Given the description of an element on the screen output the (x, y) to click on. 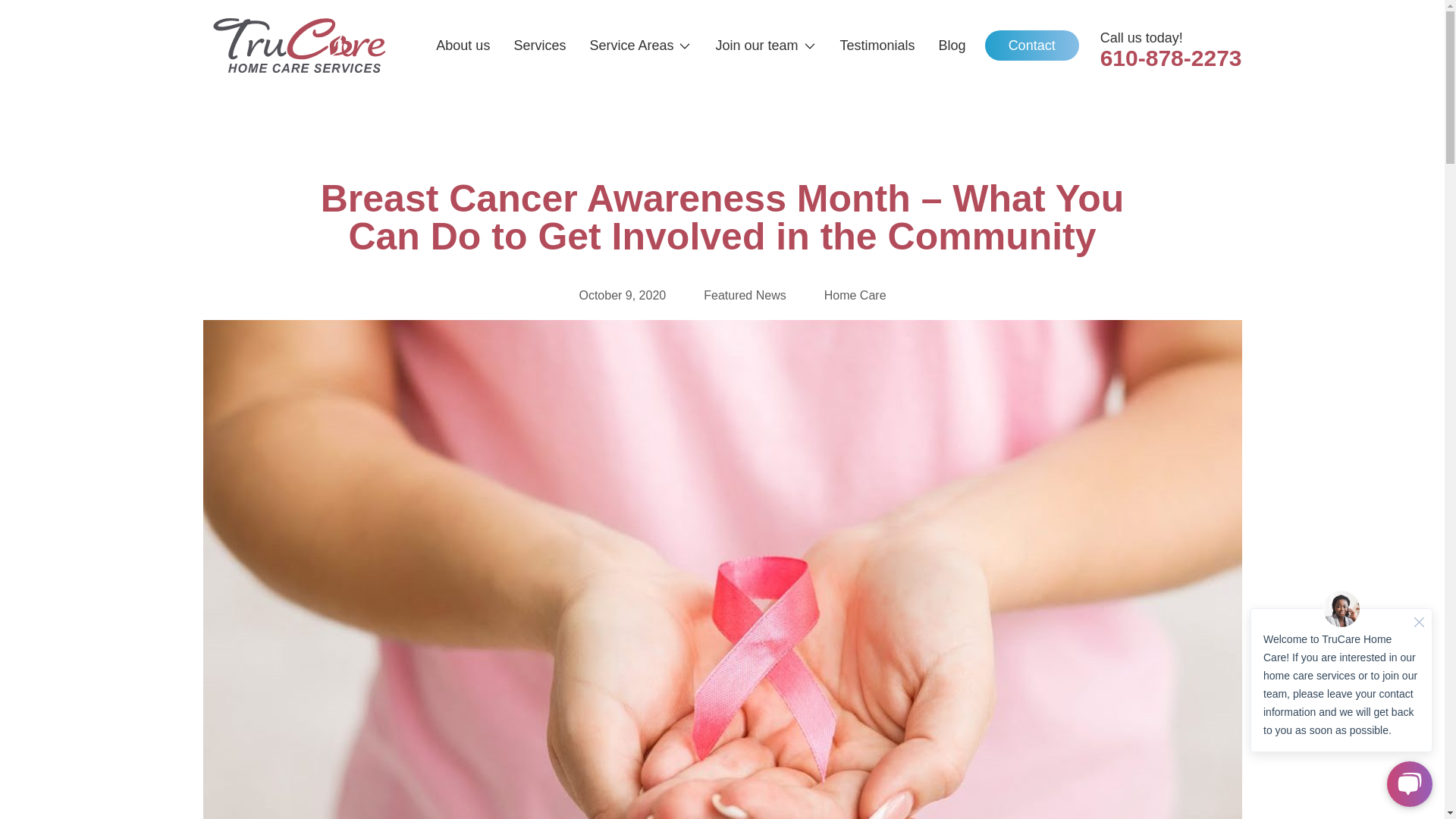
Contact (1031, 45)
Testimonials (877, 45)
About us (462, 45)
Blog (952, 45)
Join our team (764, 45)
Service Areas (640, 45)
Services (539, 45)
610-878-2273 (1170, 57)
